Given the description of an element on the screen output the (x, y) to click on. 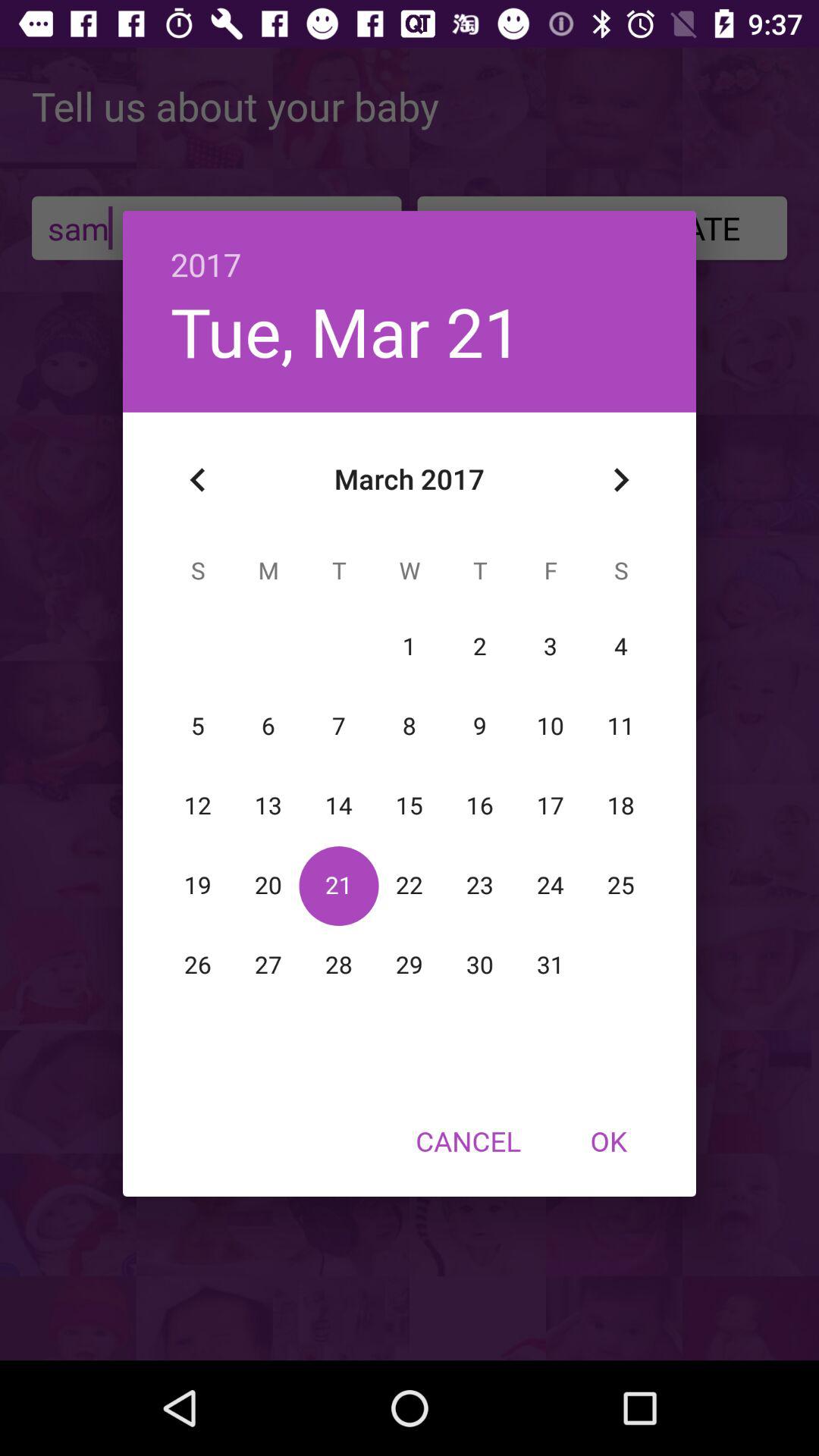
choose the icon at the top right corner (620, 479)
